Given the description of an element on the screen output the (x, y) to click on. 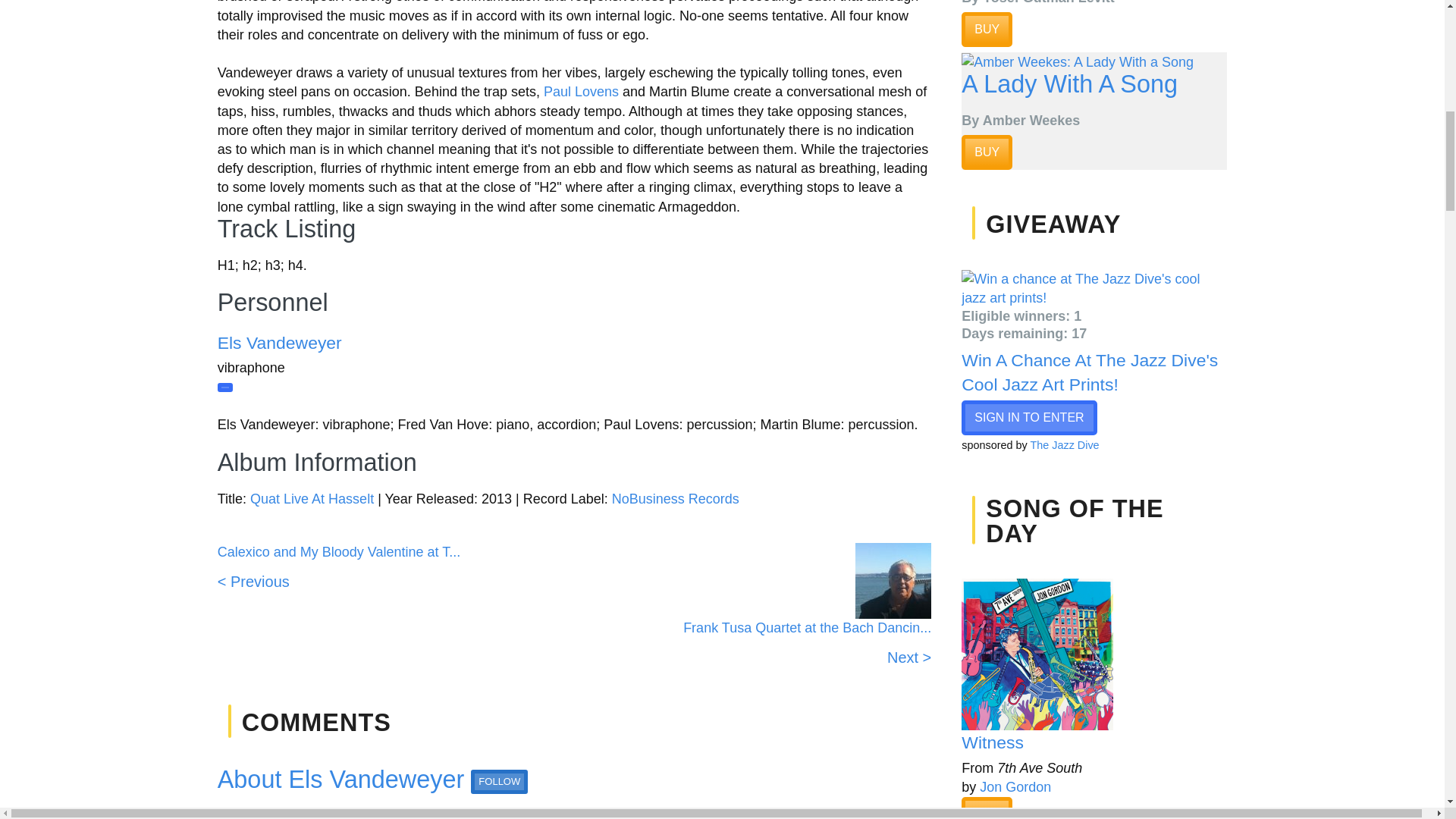
Els Vandeweyer (279, 342)
Visit Els Vandeweyer at All About Jazz (279, 342)
Paul Lovens (580, 91)
View Quat Live At Hasselt at All About Jazz (312, 498)
NoBusiness Records (675, 498)
Quat Live At Hasselt (312, 498)
View Els Vandeweyer's calendar (224, 387)
